Given the description of an element on the screen output the (x, y) to click on. 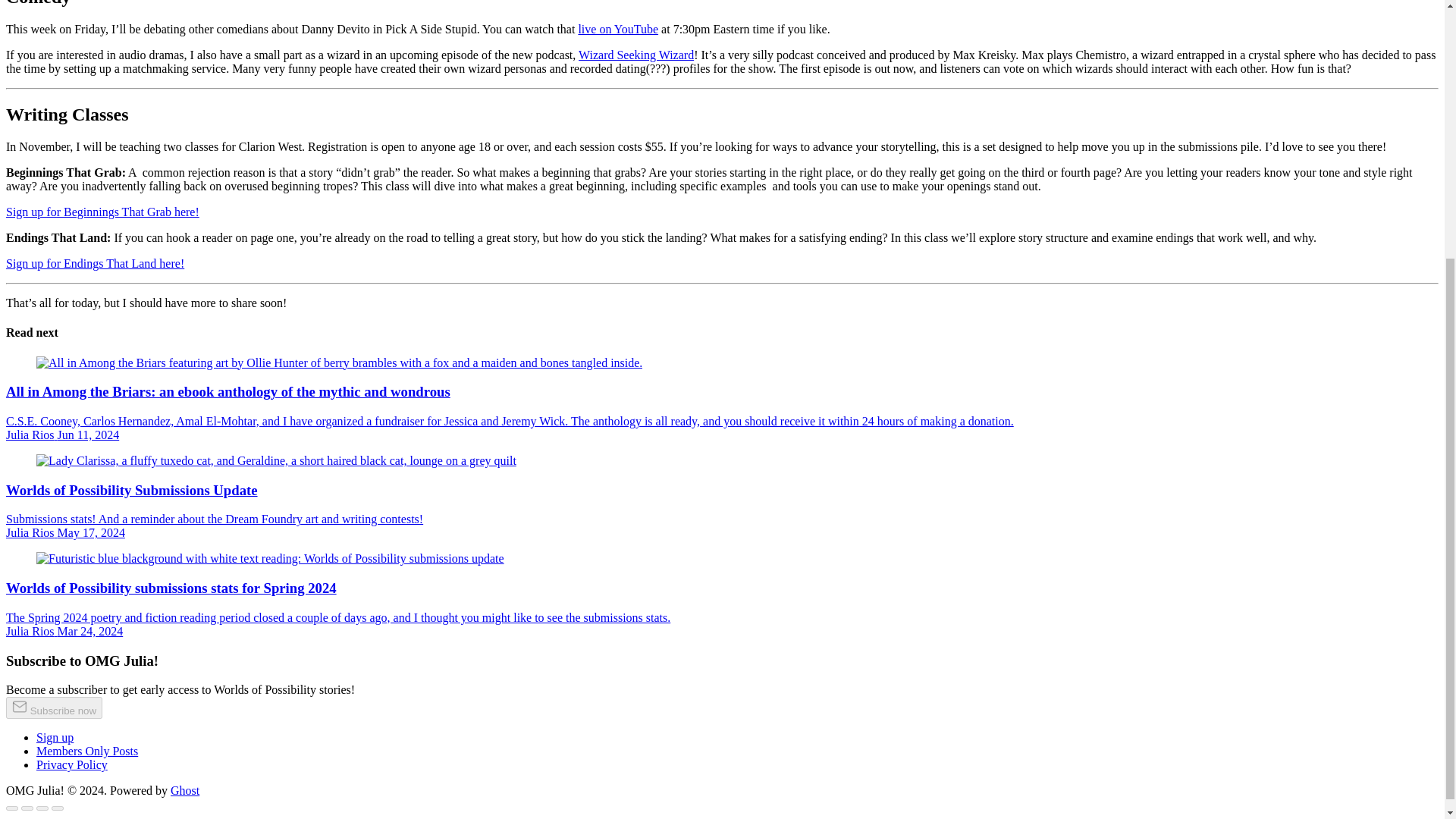
Sign up for Endings That Land here! (94, 263)
Sign up for Beginnings That Grab here! (102, 211)
Toggle fullscreen (42, 807)
Ghost (184, 789)
Subscribe now (53, 707)
Privacy Policy (71, 764)
live on YouTube (618, 29)
Sign up (55, 737)
Wizard Seeking Wizard (636, 54)
Share (27, 807)
Members Only Posts (87, 750)
